Given the description of an element on the screen output the (x, y) to click on. 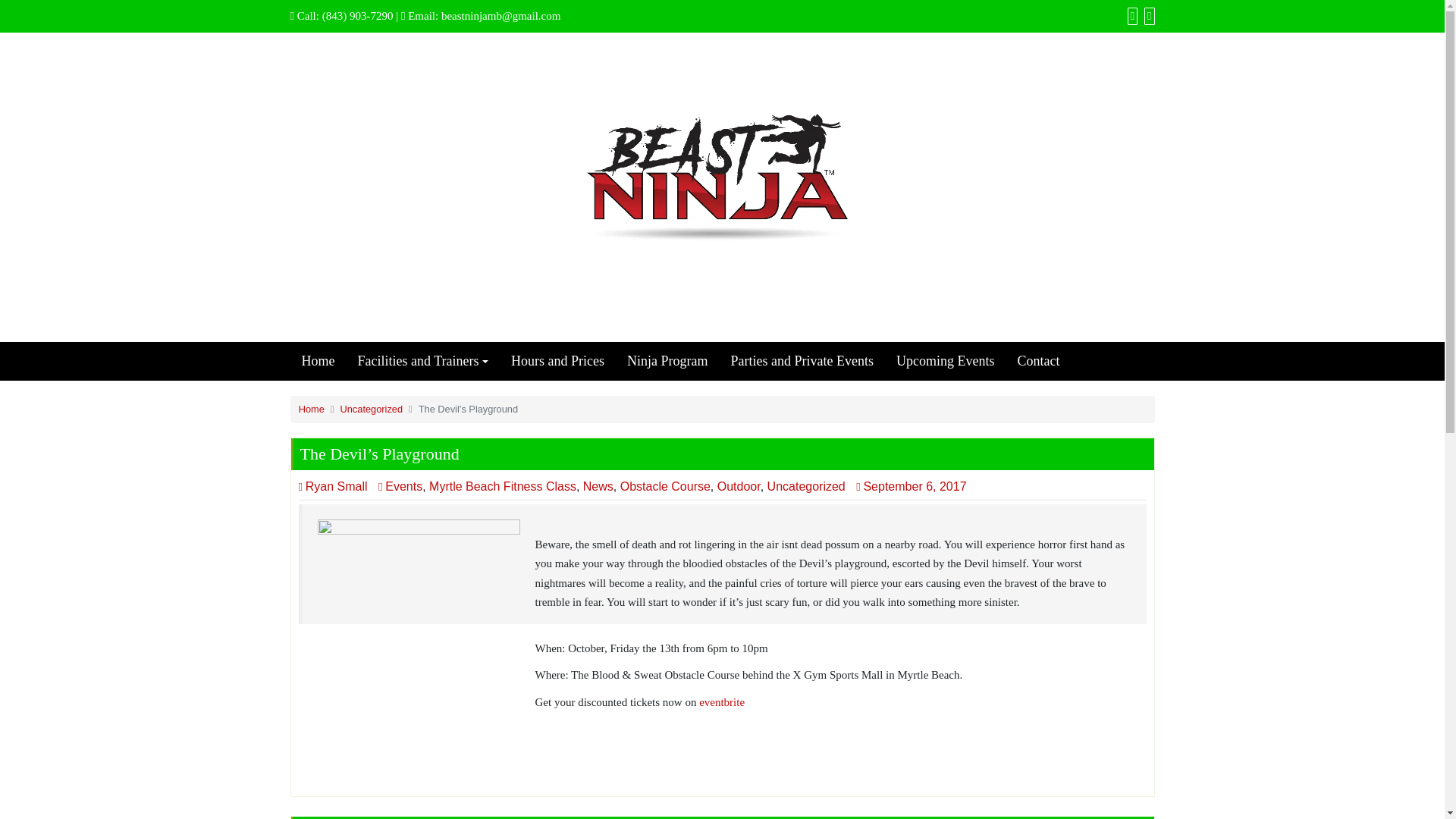
Ryan Small (333, 486)
Obstacle Course (665, 486)
Ninja Program (667, 361)
Home (317, 361)
September 6, 2017 (915, 486)
Hours and Prices (557, 361)
Myrtle Beach Fitness Class (502, 486)
News (597, 486)
Contact (1038, 361)
Events (400, 486)
